Given the description of an element on the screen output the (x, y) to click on. 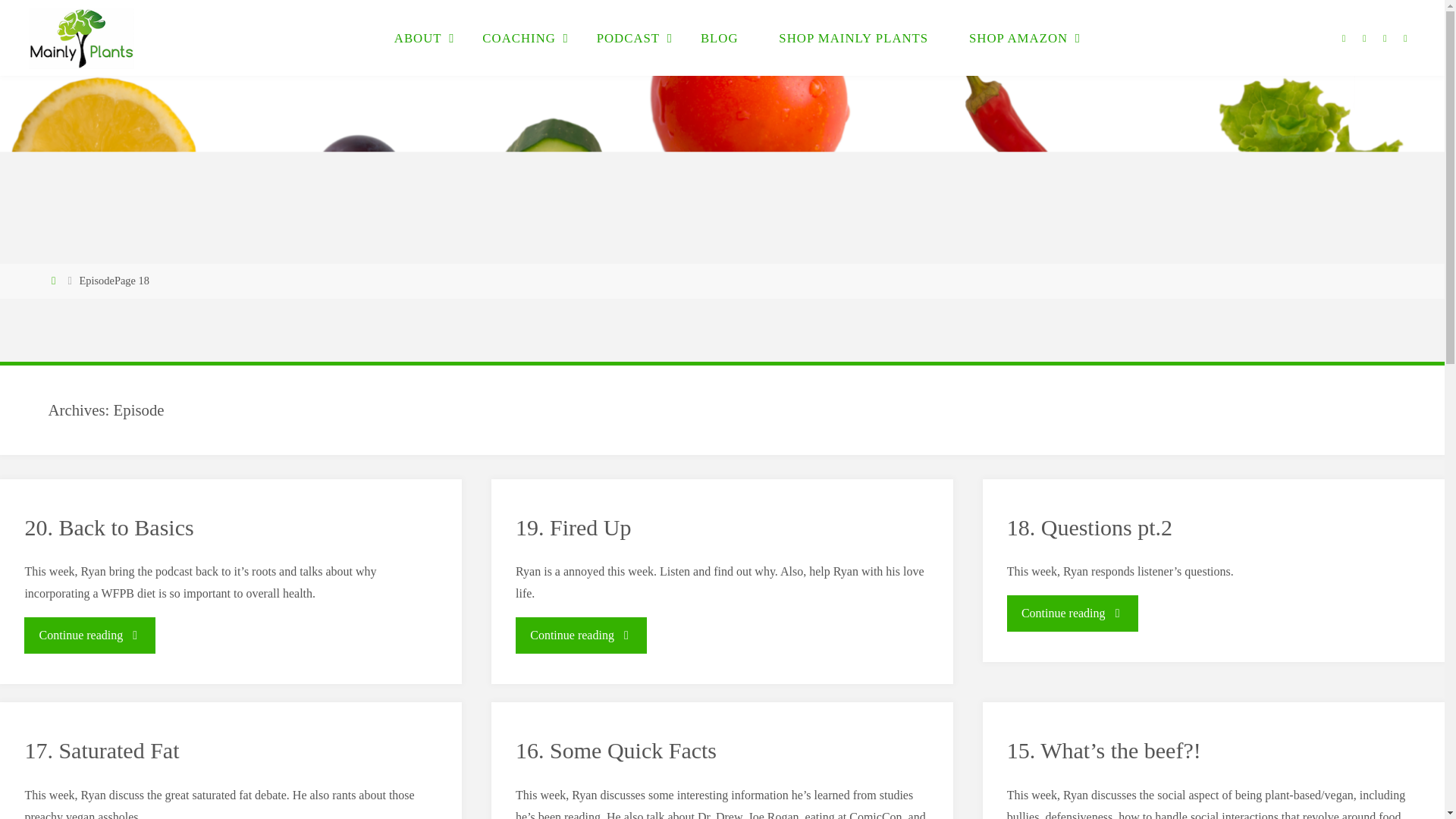
Mainly Plants (81, 37)
PODCAST (627, 38)
COACHING (518, 38)
BLOG (718, 38)
Plant Based Nutrition Consultation (181, 64)
ABOUT (418, 38)
MAINLY PLANTS (181, 64)
